Given the description of an element on the screen output the (x, y) to click on. 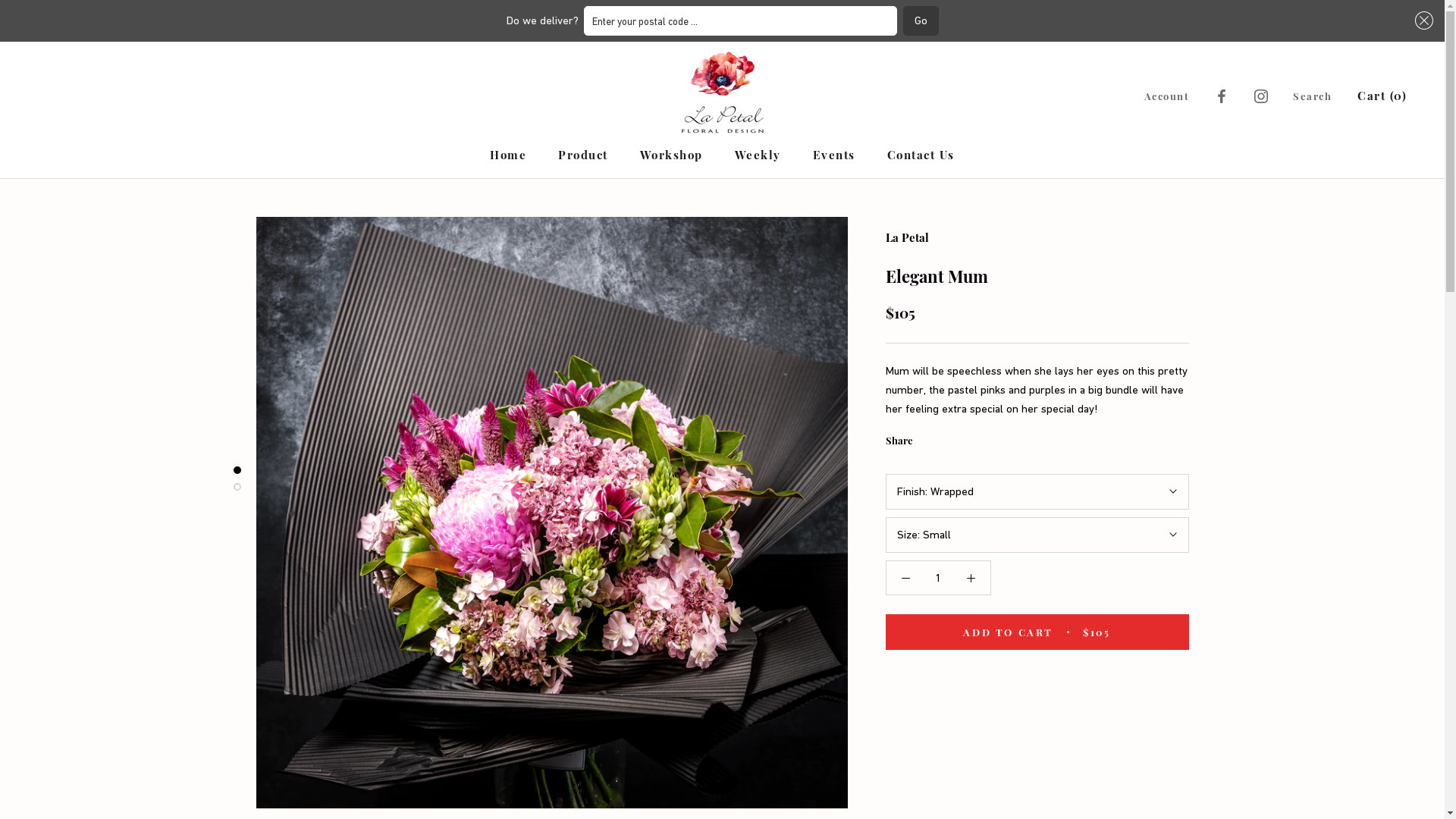
Go Element type: text (920, 21)
Size: Small Element type: text (1037, 534)
Finish: Wrapped Element type: text (1037, 491)
Search Element type: text (1311, 95)
Workshop
Workshop Element type: text (671, 154)
Account Element type: text (1166, 95)
Weekly
Weekly Element type: text (757, 154)
Product Element type: text (583, 154)
ADD TO CART
$105 Element type: text (1037, 631)
Events
Events Element type: text (833, 154)
Contact Us
Contact Us Element type: text (920, 154)
Cart (0) Element type: text (1381, 95)
Home
Home Element type: text (507, 154)
